Given the description of an element on the screen output the (x, y) to click on. 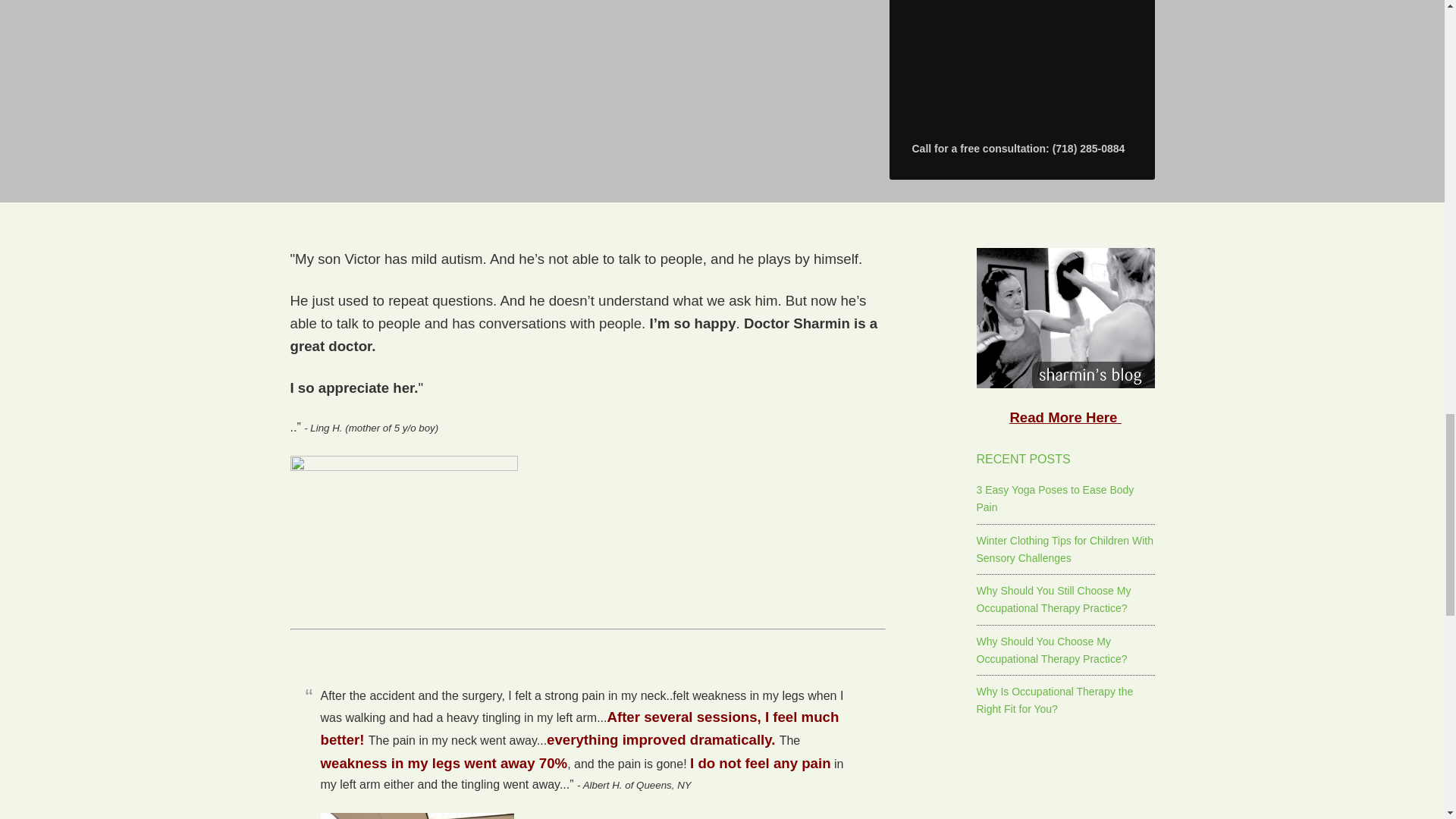
Why Is Occupational Therapy the Right Fit for You? (1055, 699)
Why Should You Choose My Occupational Therapy Practice? (1051, 650)
3 Easy Yoga Poses to Ease Body Pain (1055, 498)
Read More Here  (1065, 417)
Winter Clothing Tips for Children With Sensory Challenges (1064, 549)
